Given the description of an element on the screen output the (x, y) to click on. 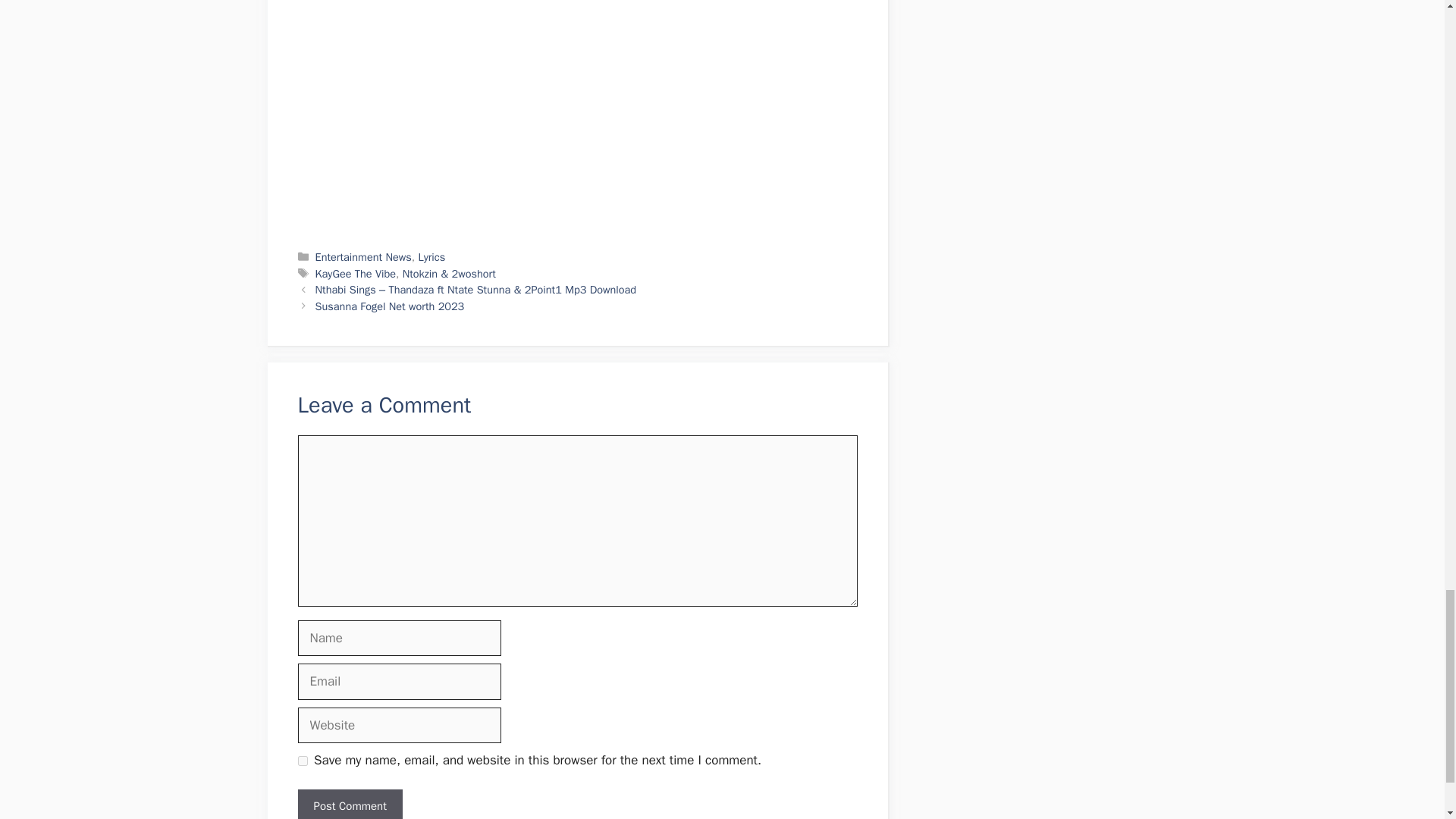
KayGee The Vibe (355, 273)
Susanna Fogel Net worth 2023 (389, 305)
Lyrics (431, 256)
Entertainment News (363, 256)
Advertisement (569, 113)
Post Comment (349, 804)
yes (302, 760)
Post Comment (349, 804)
